Given the description of an element on the screen output the (x, y) to click on. 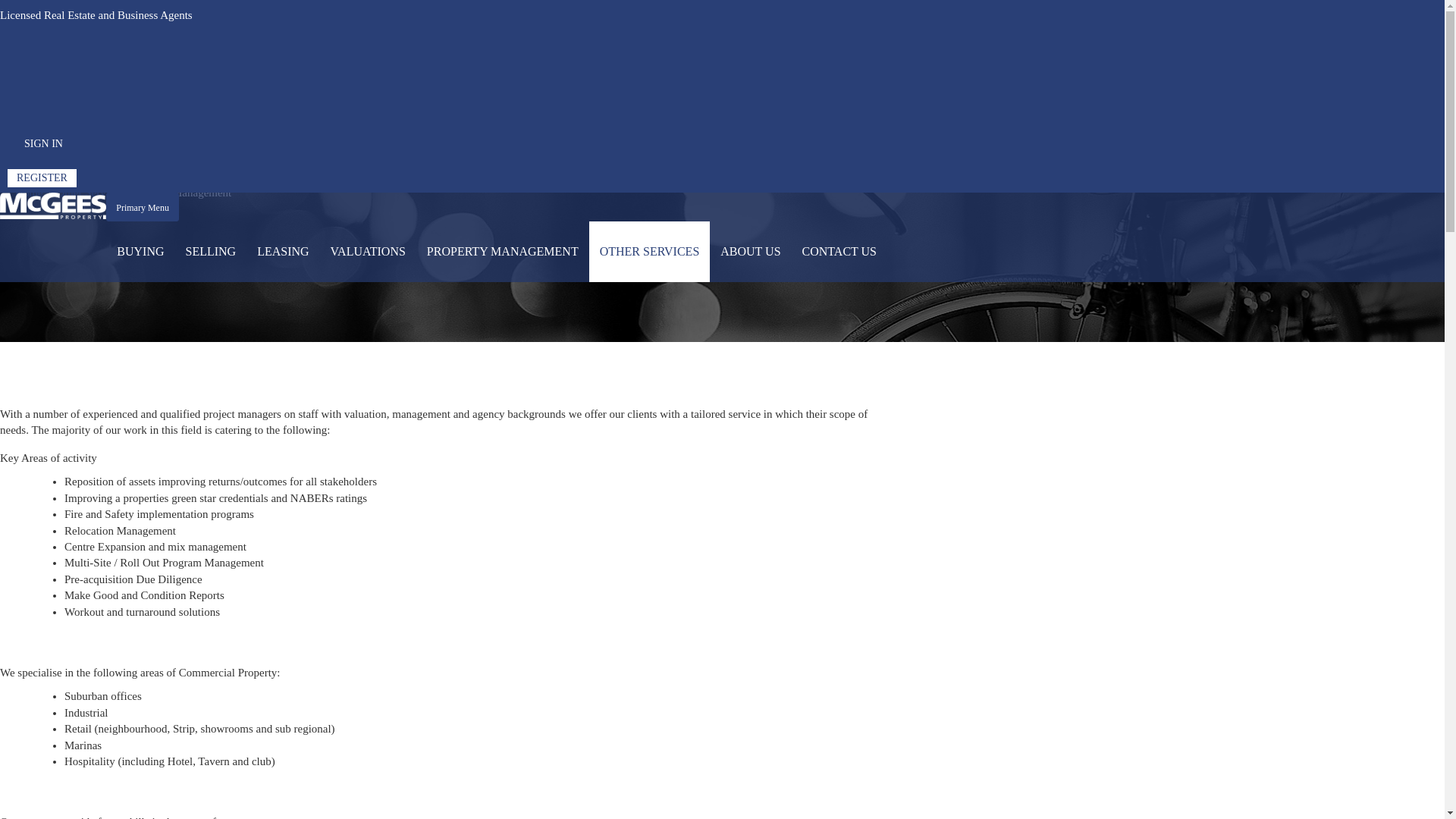
Primary Menu Element type: text (142, 206)
VALUATIONS Element type: text (368, 251)
Home Element type: text (30, 192)
PROPERTY MANAGEMENT Element type: text (502, 251)
SELLING Element type: text (210, 251)
LEASING Element type: text (282, 251)
REGISTER Element type: text (41, 178)
BUYING Element type: text (140, 251)
ABOUT US Element type: text (749, 251)
Other Services Element type: text (90, 192)
CONTACT US Element type: text (839, 251)
SIGN IN Element type: text (43, 143)
OTHER SERVICES Element type: text (649, 251)
